Given the description of an element on the screen output the (x, y) to click on. 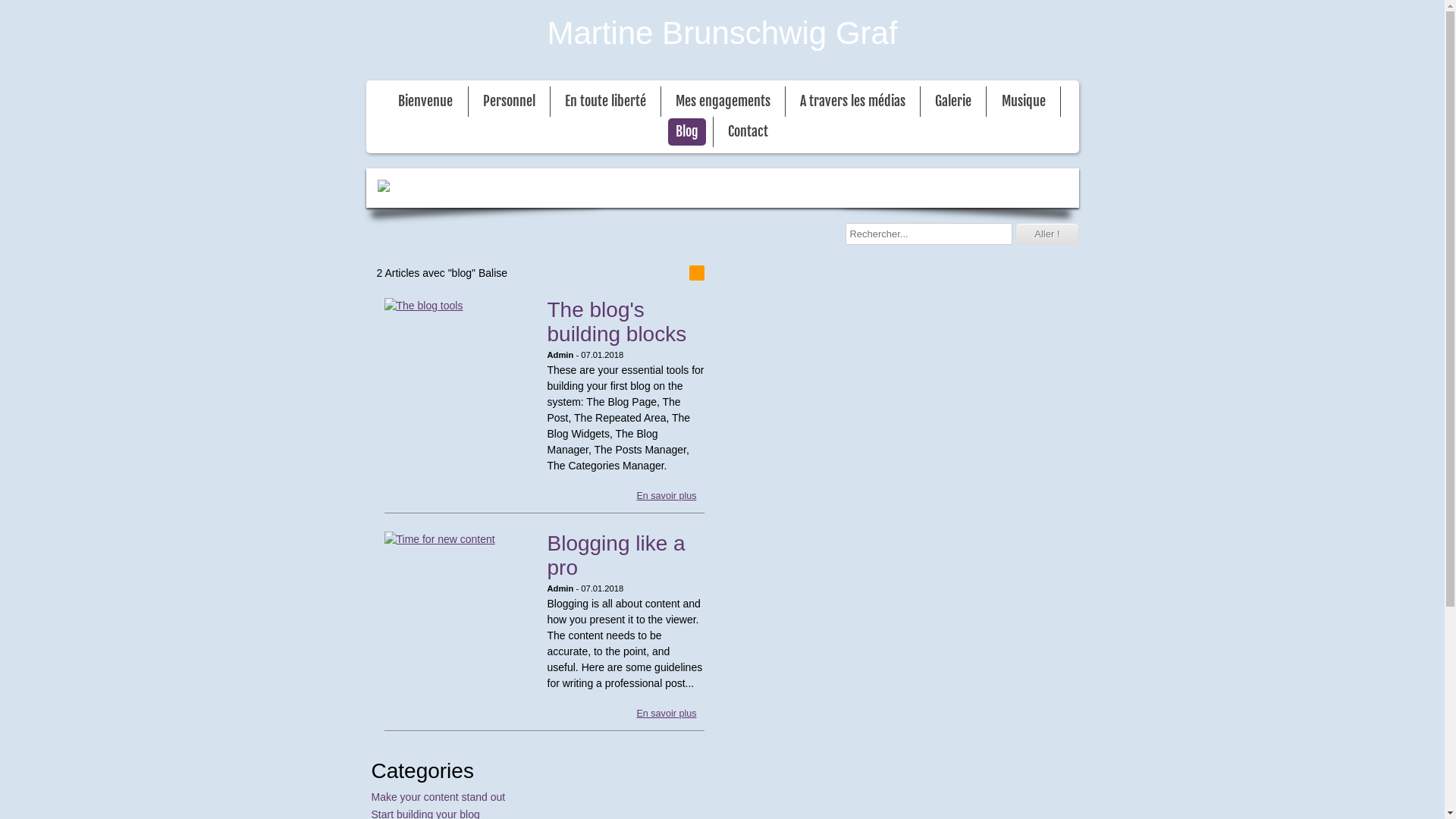
Mes engagements Element type: text (723, 101)
Contact Element type: text (747, 131)
En savoir plus Element type: text (666, 496)
Blog Element type: text (687, 131)
Galerie Element type: text (953, 101)
The blog's building blocks Element type: hover (459, 305)
Martine Brunschwig Graf Element type: text (721, 32)
Blogging like a pro Element type: hover (459, 539)
Musique Element type: text (1023, 101)
Bienvenue Element type: text (425, 101)
RSS Element type: text (695, 272)
Make your content stand out Element type: text (438, 796)
Blogging like a pro Element type: text (616, 555)
Personnel Element type: text (508, 101)
The blog's building blocks Element type: text (617, 321)
En savoir plus Element type: text (666, 713)
